Given the description of an element on the screen output the (x, y) to click on. 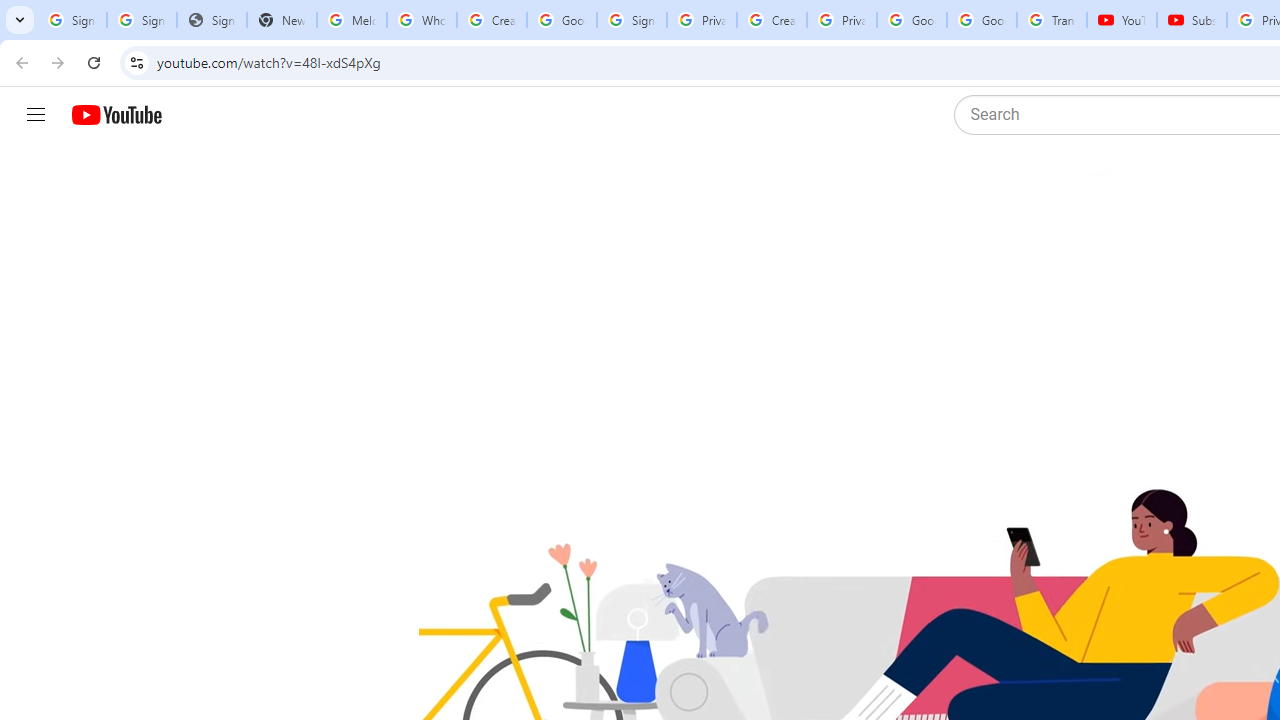
Who is my administrator? - Google Account Help (421, 20)
Guide (35, 115)
Sign In - USA TODAY (211, 20)
Create your Google Account (772, 20)
Google Account (982, 20)
YouTube (1121, 20)
